Given the description of an element on the screen output the (x, y) to click on. 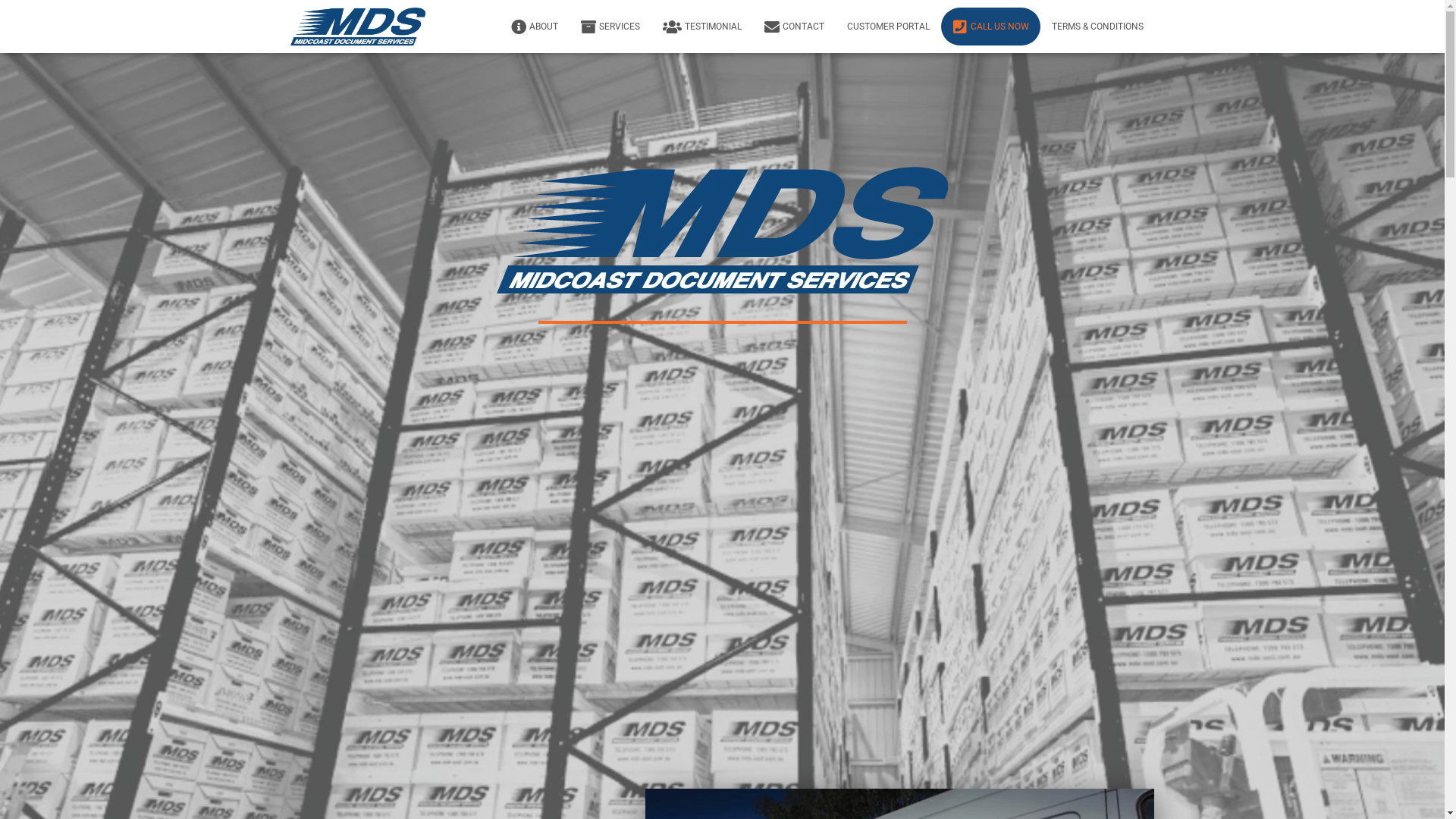
SERVICES Element type: text (609, 26)
CUSTOMER PORTAL Element type: text (888, 26)
TESTIMONIAL Element type: text (701, 26)
TERMS & CONDITIONS Element type: text (1097, 26)
ABOUT Element type: text (533, 26)
CONTACT Element type: text (793, 26)
CALL US NOW Element type: text (989, 26)
MIDCOAST DOCUMENT SERVICES Element type: hover (357, 26)
